Given the description of an element on the screen output the (x, y) to click on. 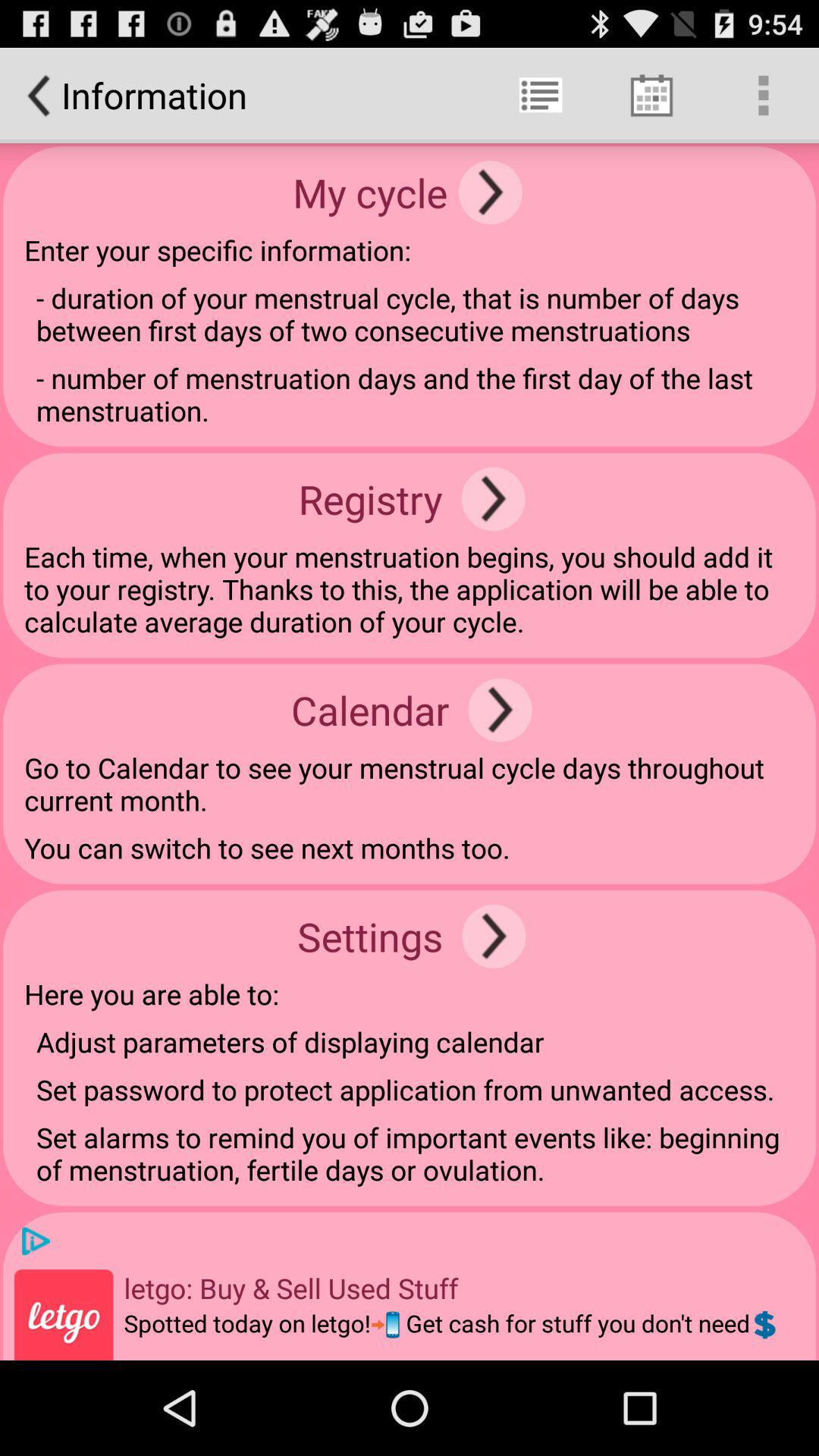
select the item below letgo buy sell icon (451, 1333)
